Given the description of an element on the screen output the (x, y) to click on. 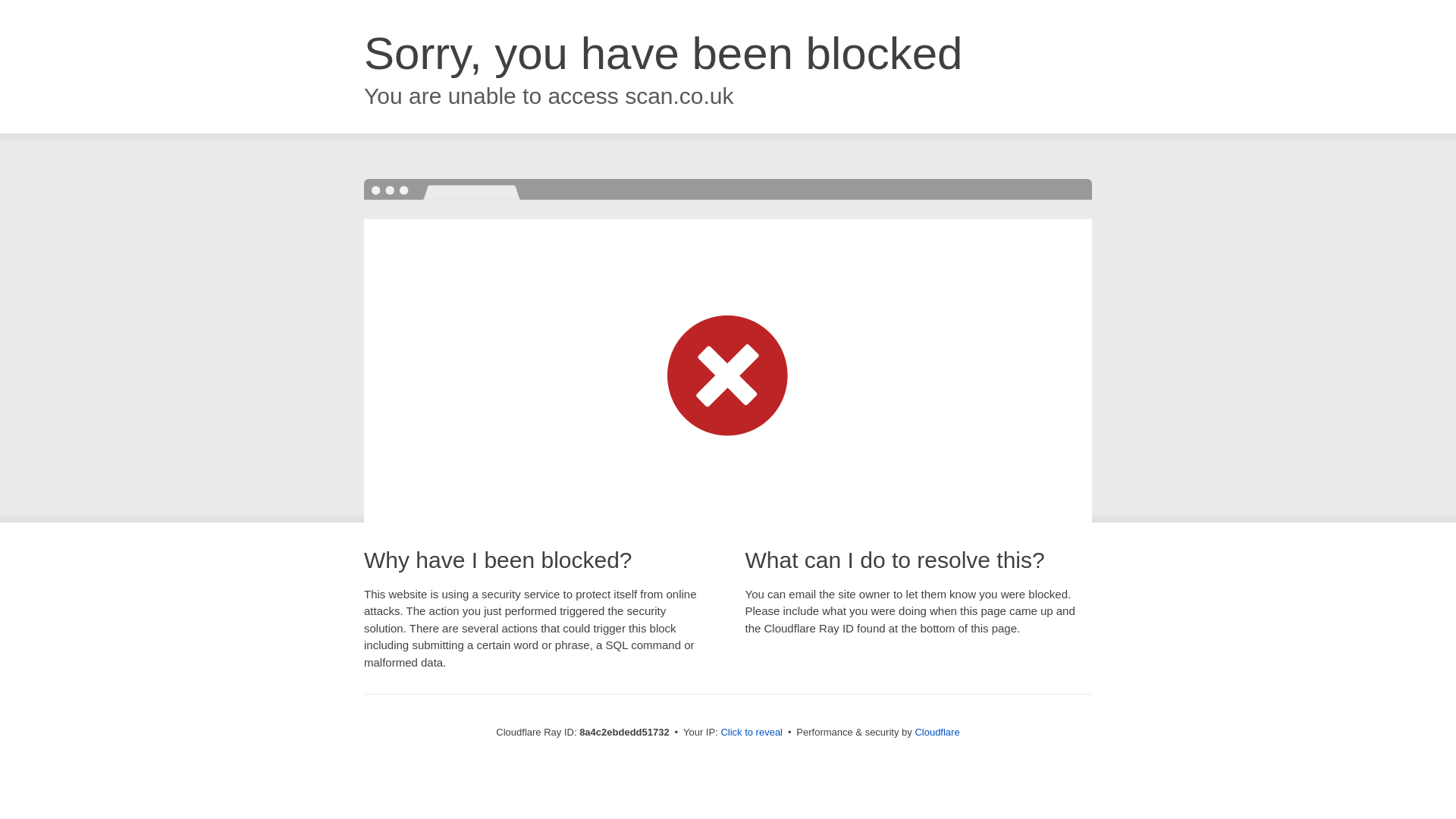
Click to reveal (751, 732)
Cloudflare (936, 731)
